Given the description of an element on the screen output the (x, y) to click on. 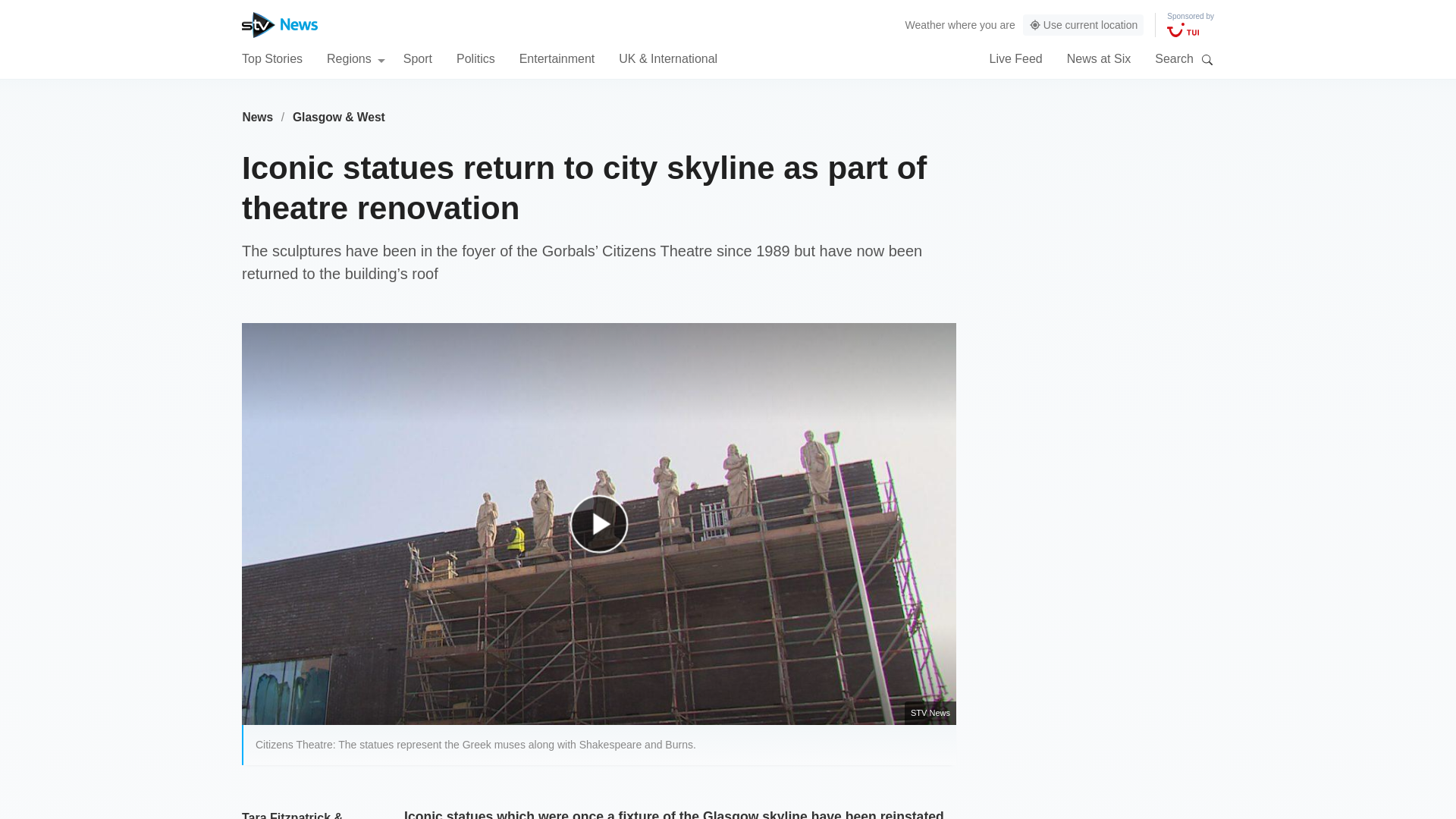
Use current location (1083, 25)
News (257, 116)
Top Stories (271, 57)
Entertainment (557, 57)
Live Feed (1015, 57)
News at Six (1099, 57)
Play Video (606, 530)
Politics (476, 57)
Regions (355, 57)
Search (1206, 59)
Weather (924, 24)
